Given the description of an element on the screen output the (x, y) to click on. 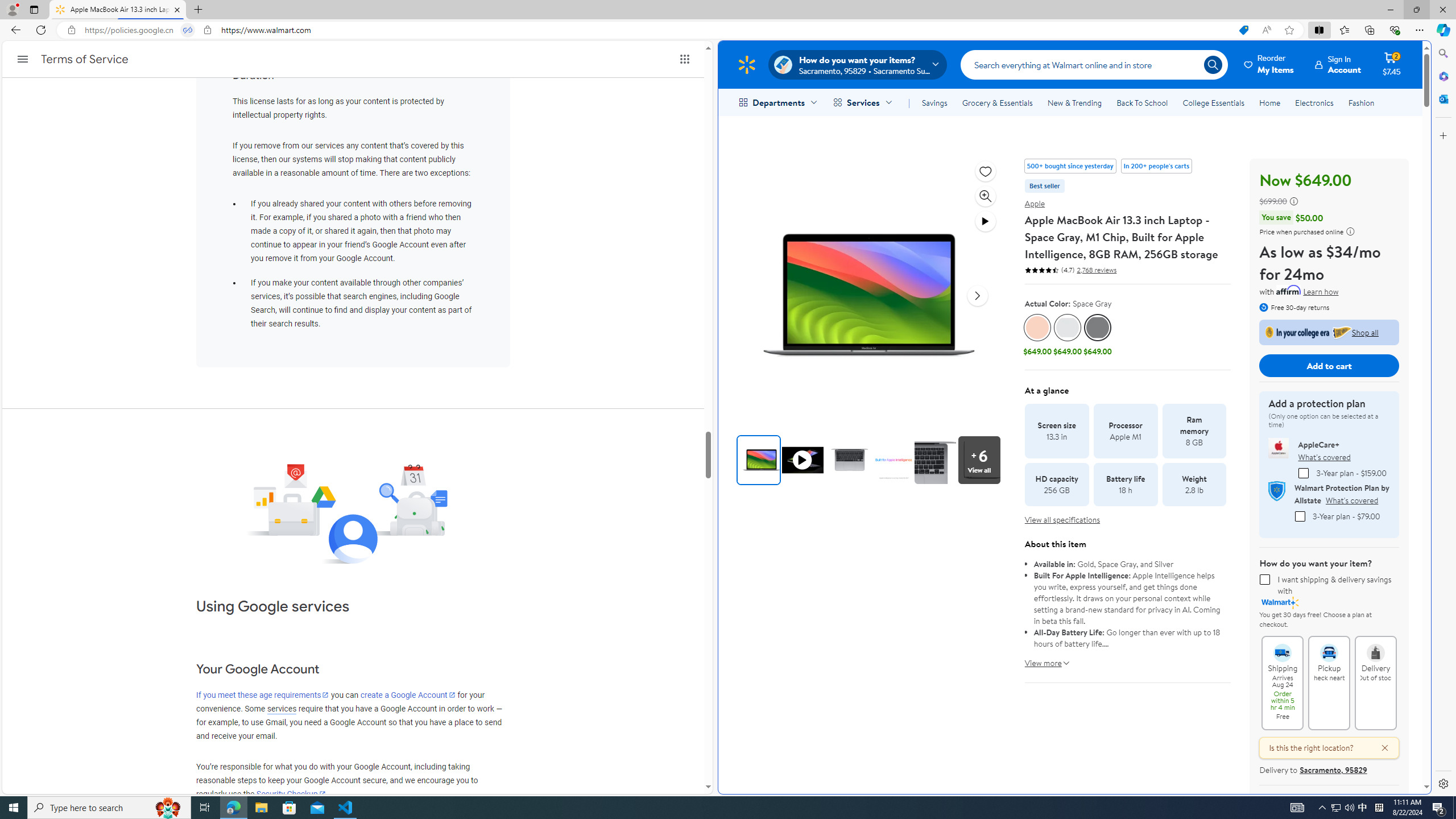
3-Year plan - $79.00 (1299, 516)
Silver Silver, $649.00 (1067, 335)
Savings (933, 102)
Close Outlook pane (1442, 98)
View more, item details (1043, 658)
Fashion (1361, 102)
Home (1269, 102)
3-Year plan - $159.00 (1303, 473)
Shop all (1329, 332)
Gold, $649.00 (1037, 335)
